Given the description of an element on the screen output the (x, y) to click on. 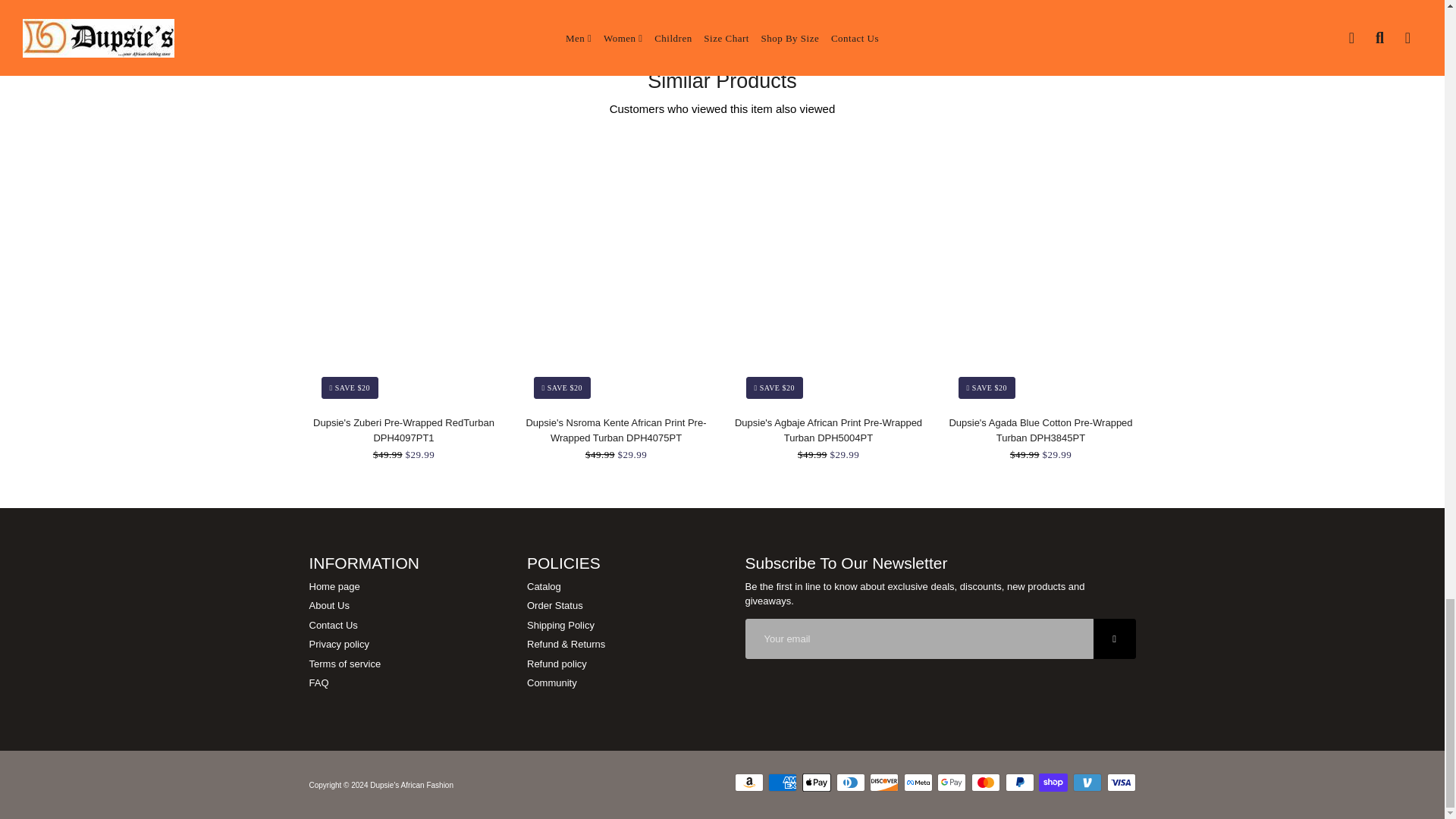
Venmo (1087, 782)
American Express (782, 782)
Google Pay (951, 782)
PayPal (1019, 782)
Amazon (748, 782)
Shop Pay (1053, 782)
Discover (883, 782)
Visa (1120, 782)
Apple Pay (816, 782)
Mastercard (985, 782)
Diners Club (849, 782)
Meta Pay (918, 782)
